Given the description of an element on the screen output the (x, y) to click on. 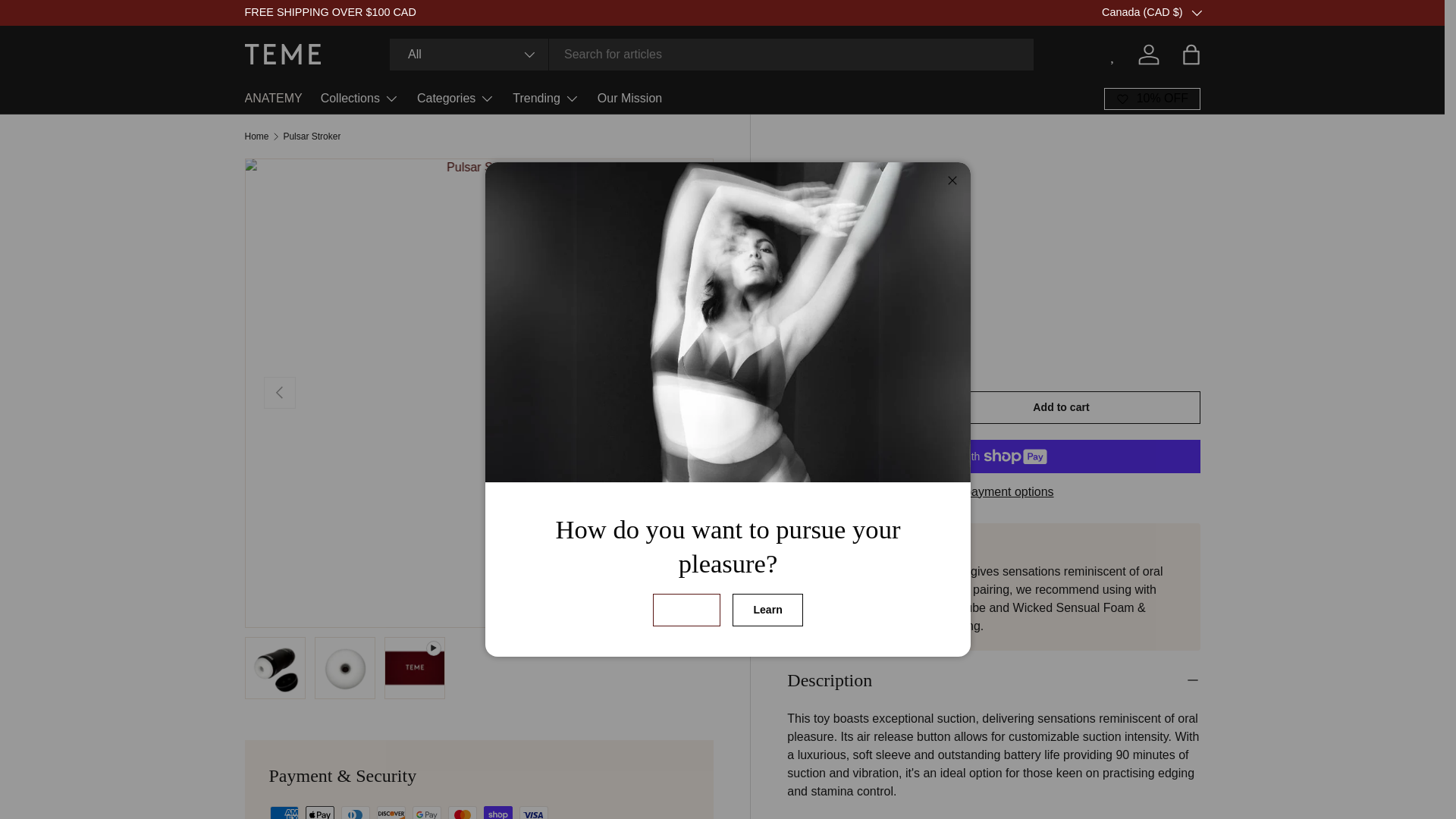
Collections (359, 98)
Categories (455, 98)
All (469, 54)
ANATEMY (272, 98)
Bag (1190, 54)
1 (848, 409)
Log in (1147, 54)
Skip to content (68, 21)
LEARN MORE (1223, 11)
Trending (545, 98)
Duties Credit (1223, 11)
